Given the description of an element on the screen output the (x, y) to click on. 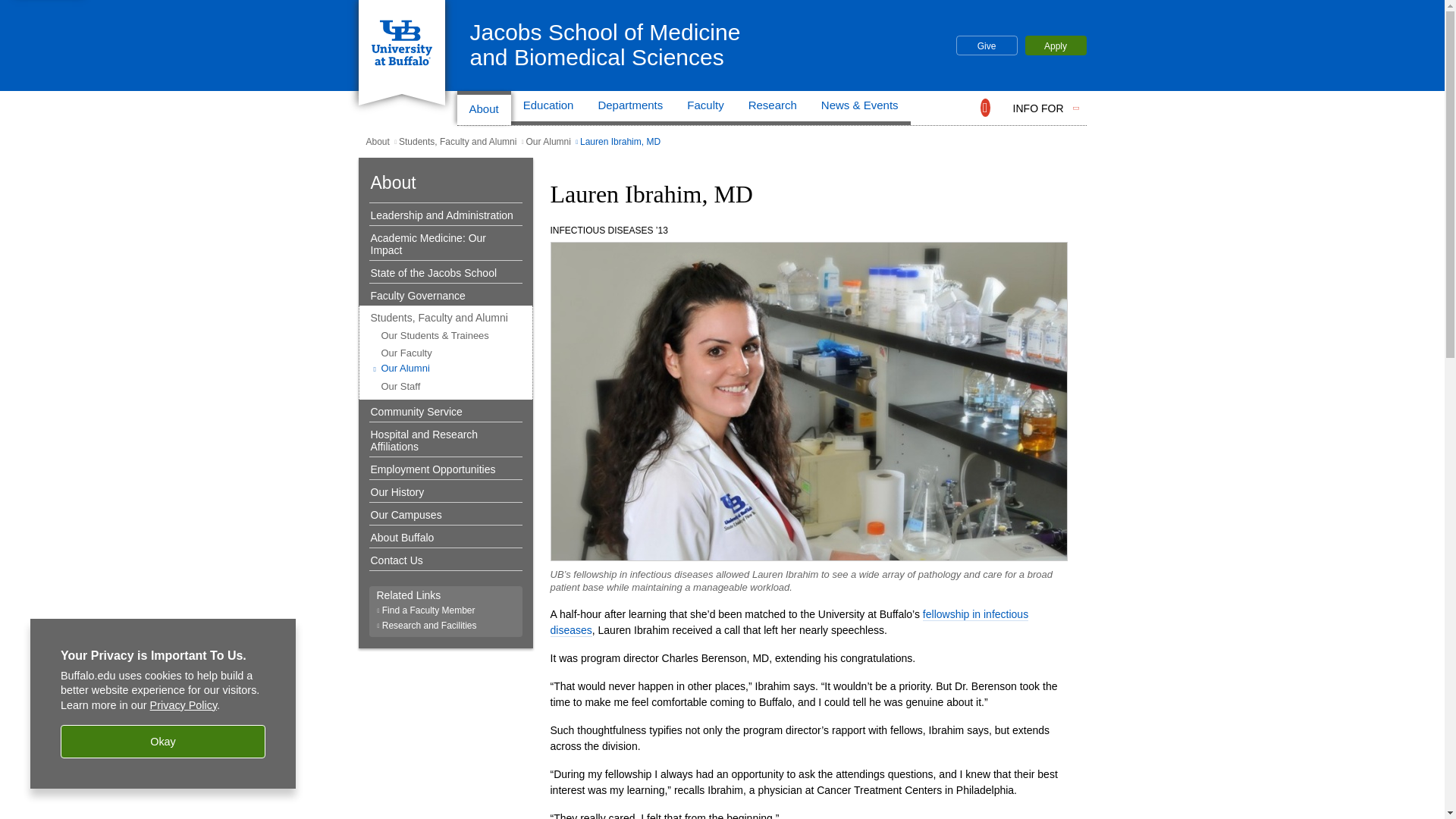
Give (985, 45)
Apply (605, 44)
Education (1055, 45)
About (548, 107)
